Given the description of an element on the screen output the (x, y) to click on. 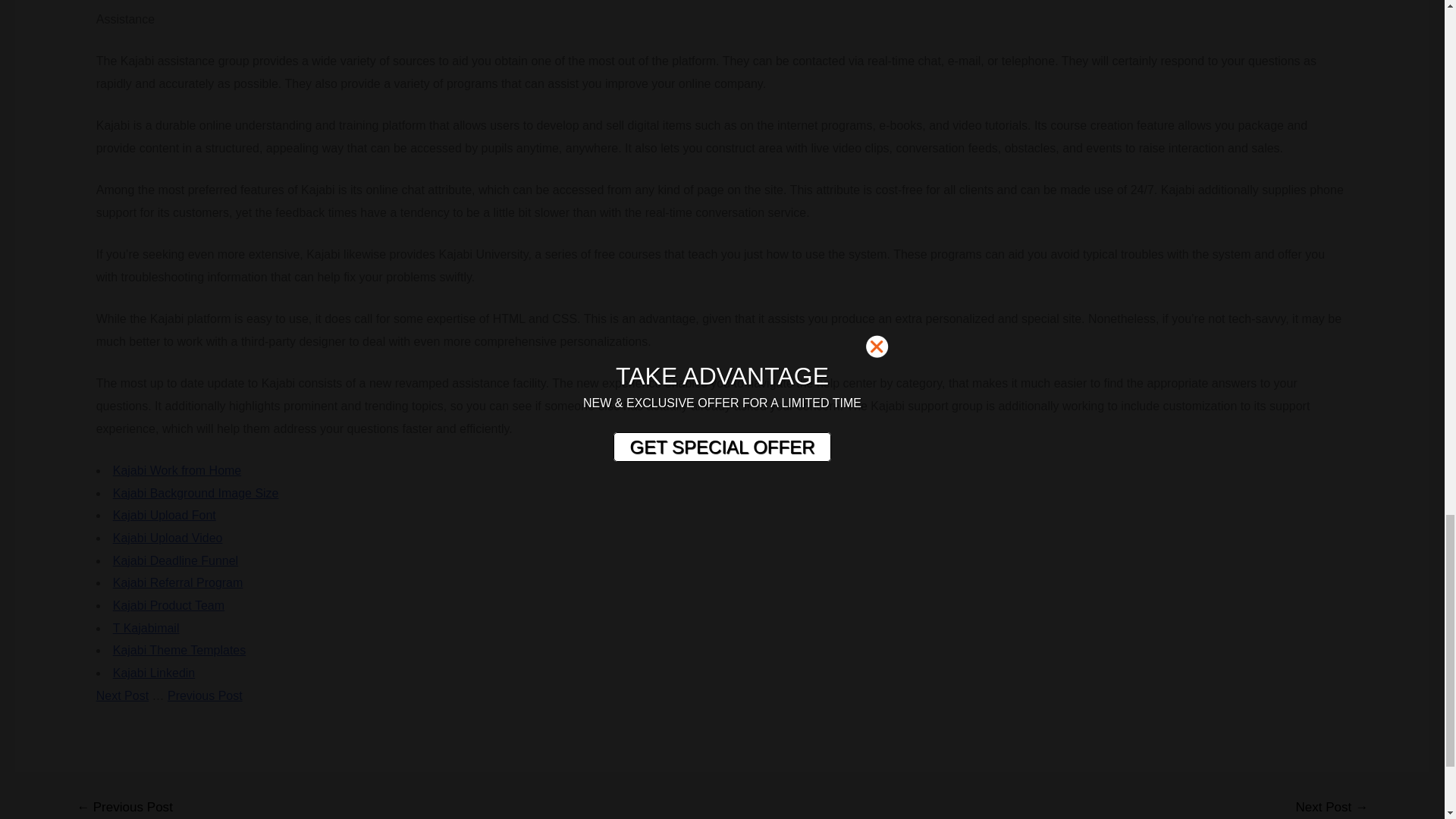
Kajabi Product Team (168, 604)
T Kajabimail (146, 627)
Kajabi Deadline Funnel (175, 560)
Kajabi Upload Font (164, 514)
Kajabi Background Image Size (196, 492)
Kajabi Upload Font (164, 514)
Kajabi Linkedin (154, 672)
Kajabi Deadline Funnel (175, 560)
Kajabi Upload Video (167, 537)
Kajabi Theme Templates (179, 649)
Kajabi Work from Home (177, 470)
Kajabi Referral Program (178, 582)
Kajabi Upload Video (167, 537)
Next Post (122, 695)
Previous Post (205, 695)
